Given the description of an element on the screen output the (x, y) to click on. 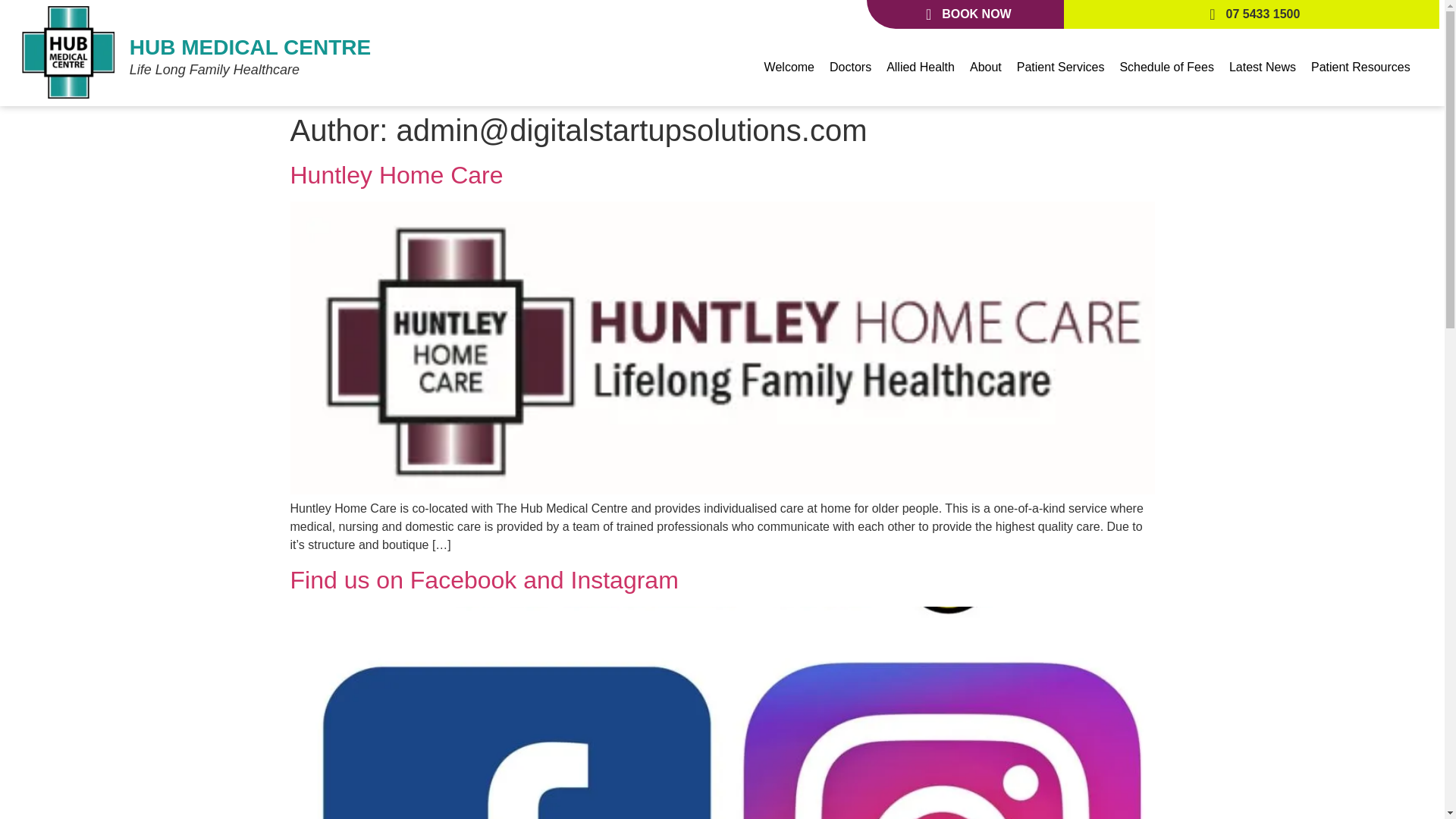
Huntley Home Care (395, 175)
Schedule of Fees (1166, 67)
Patient Resources (1360, 67)
Doctors (850, 67)
Welcome (789, 67)
Patient Services (1060, 67)
About (985, 67)
Find us on Facebook and Instagram (483, 579)
BOOK NOW (964, 13)
Latest News (1262, 67)
Allied Health (920, 67)
